Given the description of an element on the screen output the (x, y) to click on. 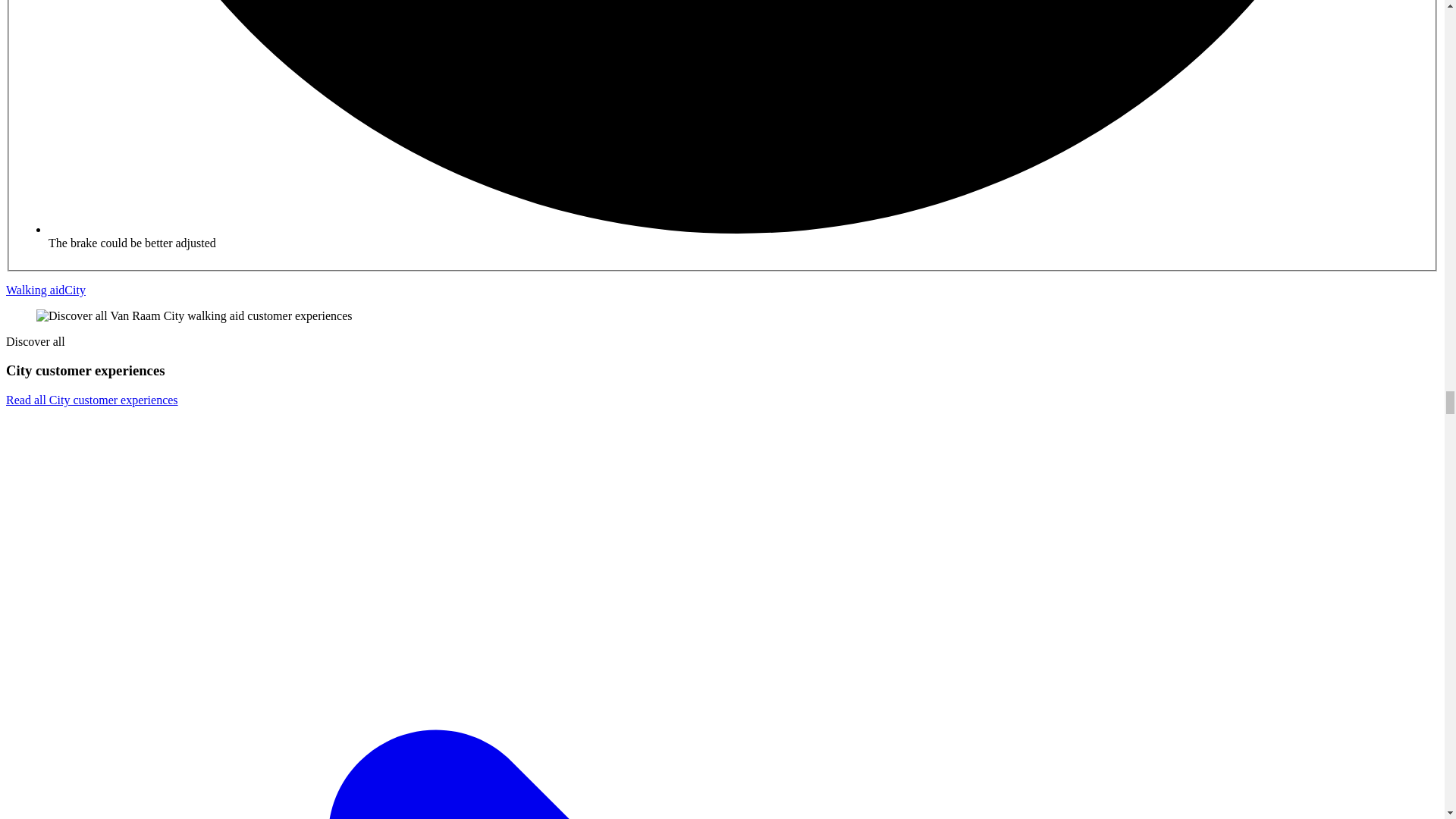
Discover all Van Raam City walking aid customer experiences (194, 315)
